Given the description of an element on the screen output the (x, y) to click on. 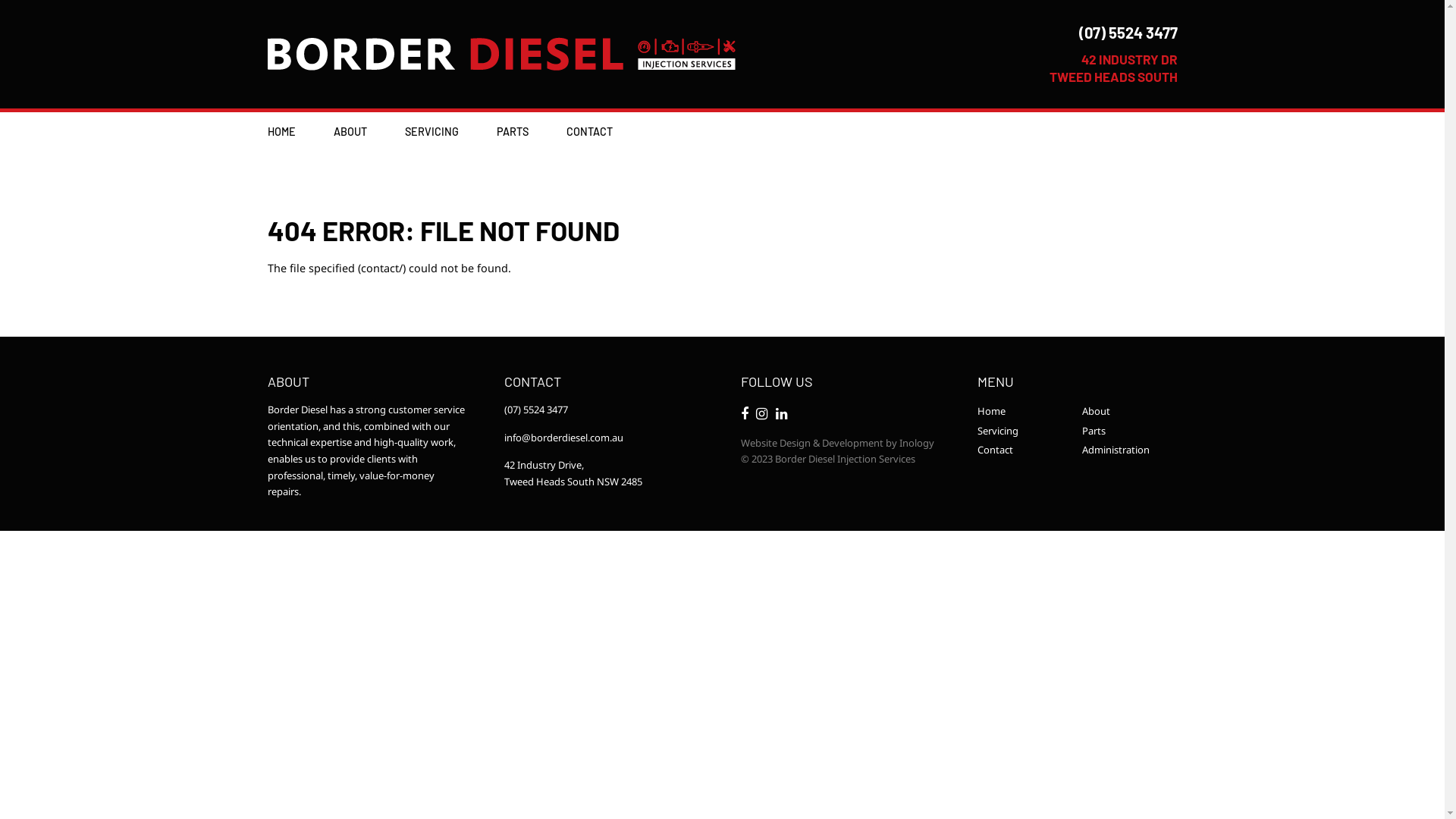
Administration Element type: text (1129, 450)
PARTS Element type: text (511, 131)
Facebook Element type: hover (744, 413)
Home Element type: text (1024, 411)
Servicing Element type: text (1024, 431)
Contact Element type: text (1024, 450)
HOME Element type: text (280, 131)
Inology Element type: text (916, 442)
CONTACT Element type: text (588, 131)
ABOUT Element type: text (350, 131)
About Element type: text (1129, 411)
LinkedIn Element type: hover (781, 413)
Instagram Element type: hover (762, 413)
SERVICING Element type: text (431, 131)
Border Diesel Injection Services Element type: hover (500, 53)
Parts Element type: text (1129, 431)
Website Design & Development Element type: text (811, 442)
